Given the description of an element on the screen output the (x, y) to click on. 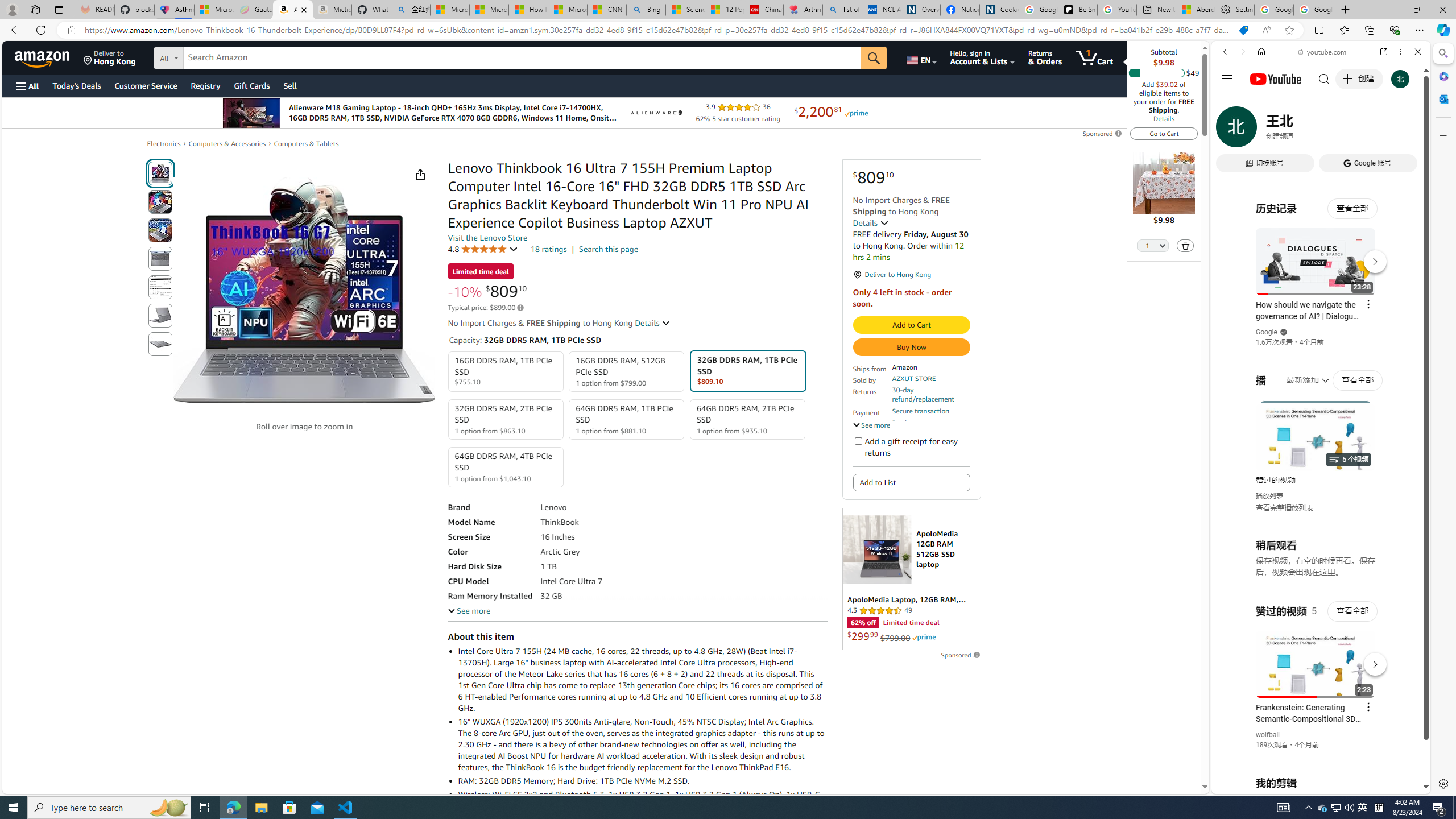
Computers & Accessories (226, 143)
Logo (655, 112)
Registry (205, 85)
Add to Cart (911, 324)
you (1315, 755)
Quantity Selector (1153, 246)
